Given the description of an element on the screen output the (x, y) to click on. 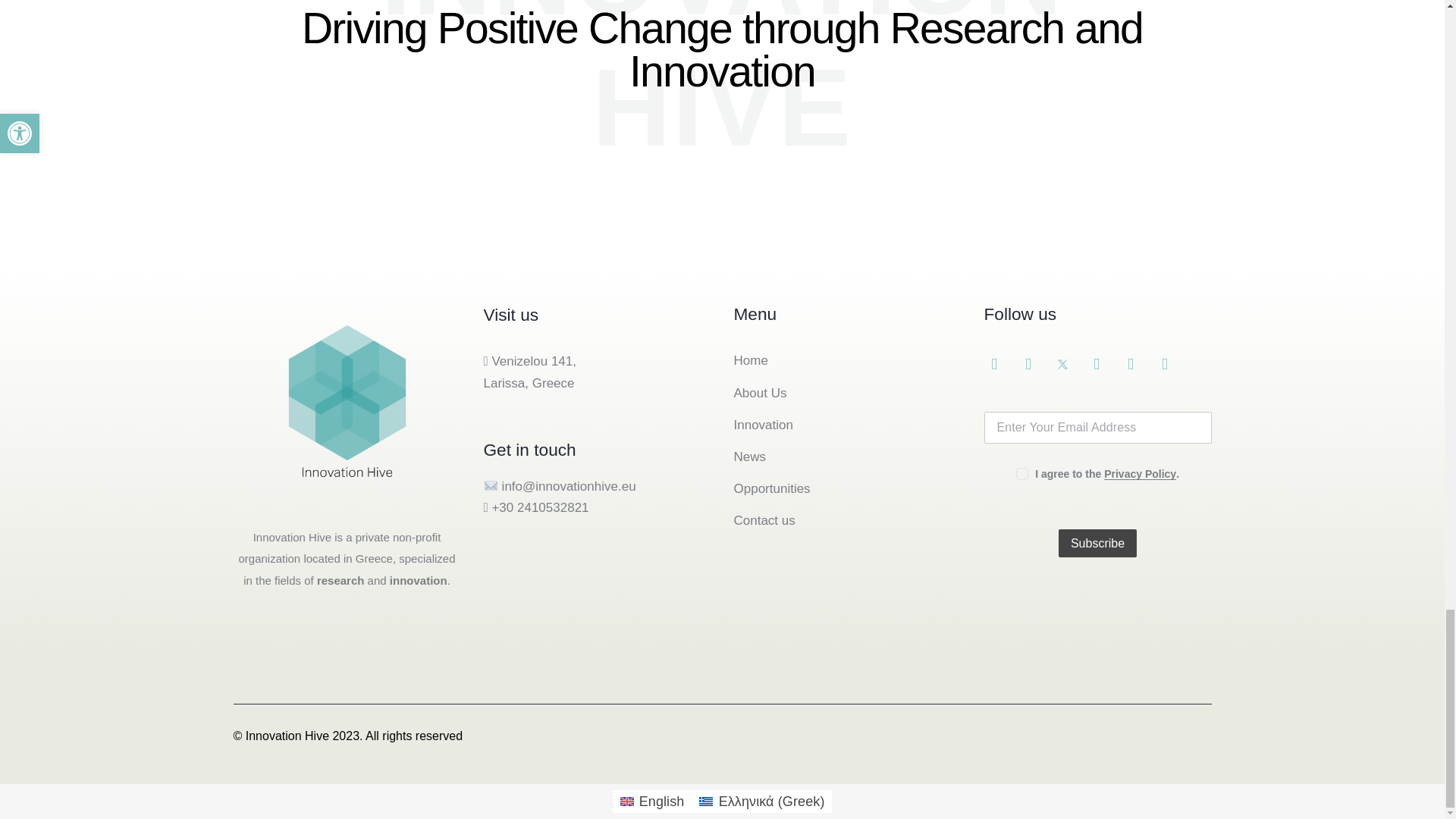
Subscribe (1097, 543)
1 (1021, 470)
